Given the description of an element on the screen output the (x, y) to click on. 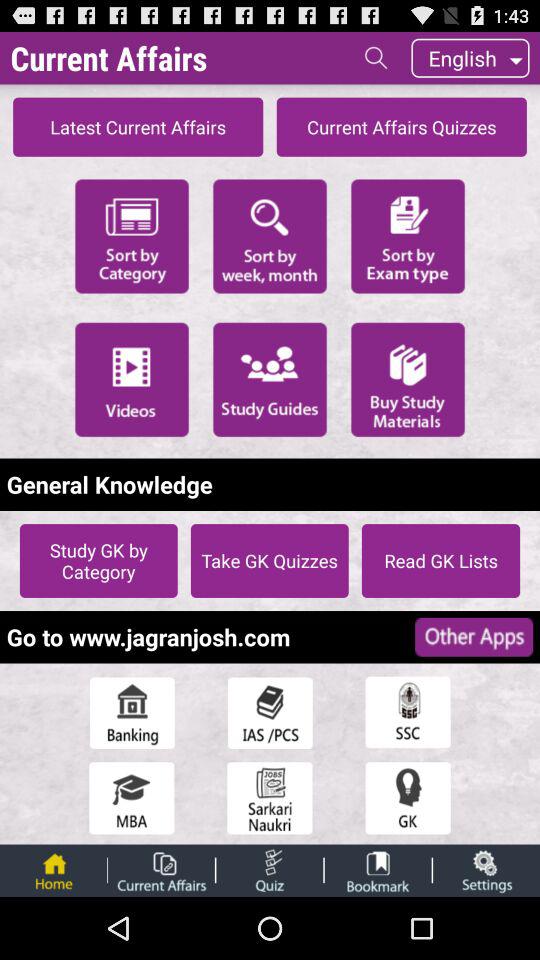
sarkarinaukri (269, 798)
